Given the description of an element on the screen output the (x, y) to click on. 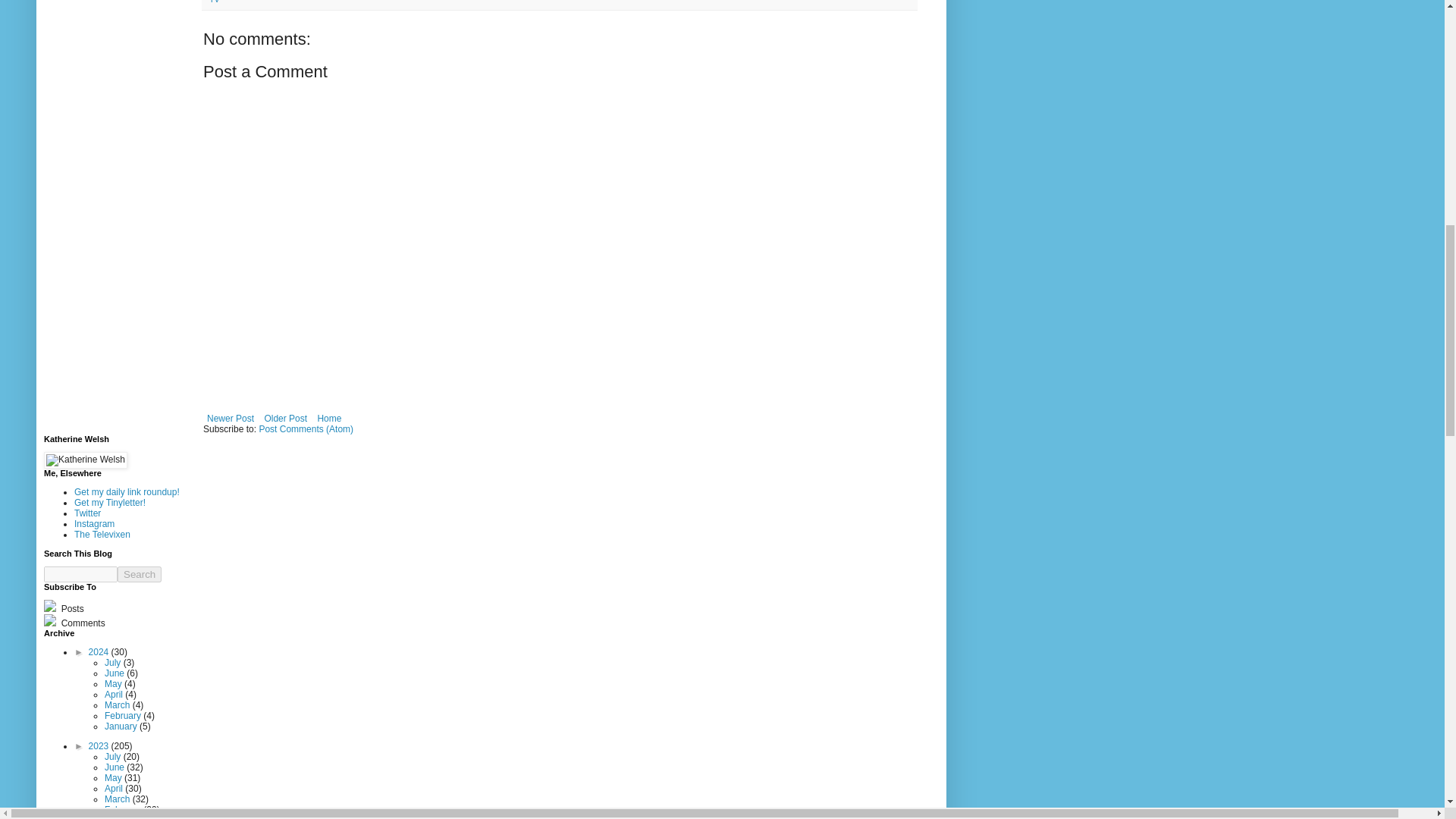
Newer Post (230, 418)
search (80, 574)
search (139, 574)
Older Post (285, 418)
Search (139, 574)
Search (139, 574)
